Given the description of an element on the screen output the (x, y) to click on. 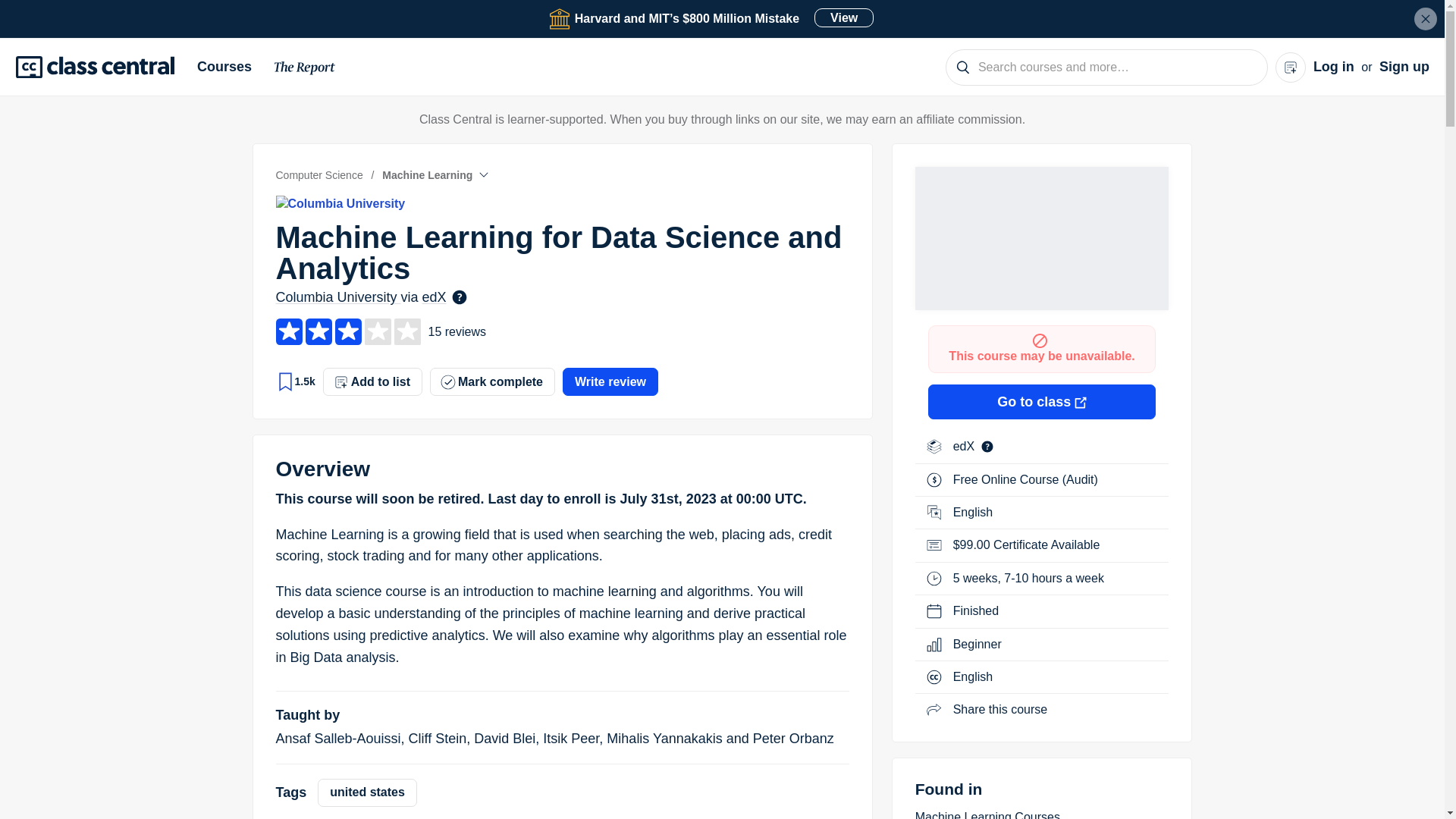
The Report (304, 69)
Courses (229, 66)
List of edX MOOCs (965, 445)
Close (1425, 18)
